Given the description of an element on the screen output the (x, y) to click on. 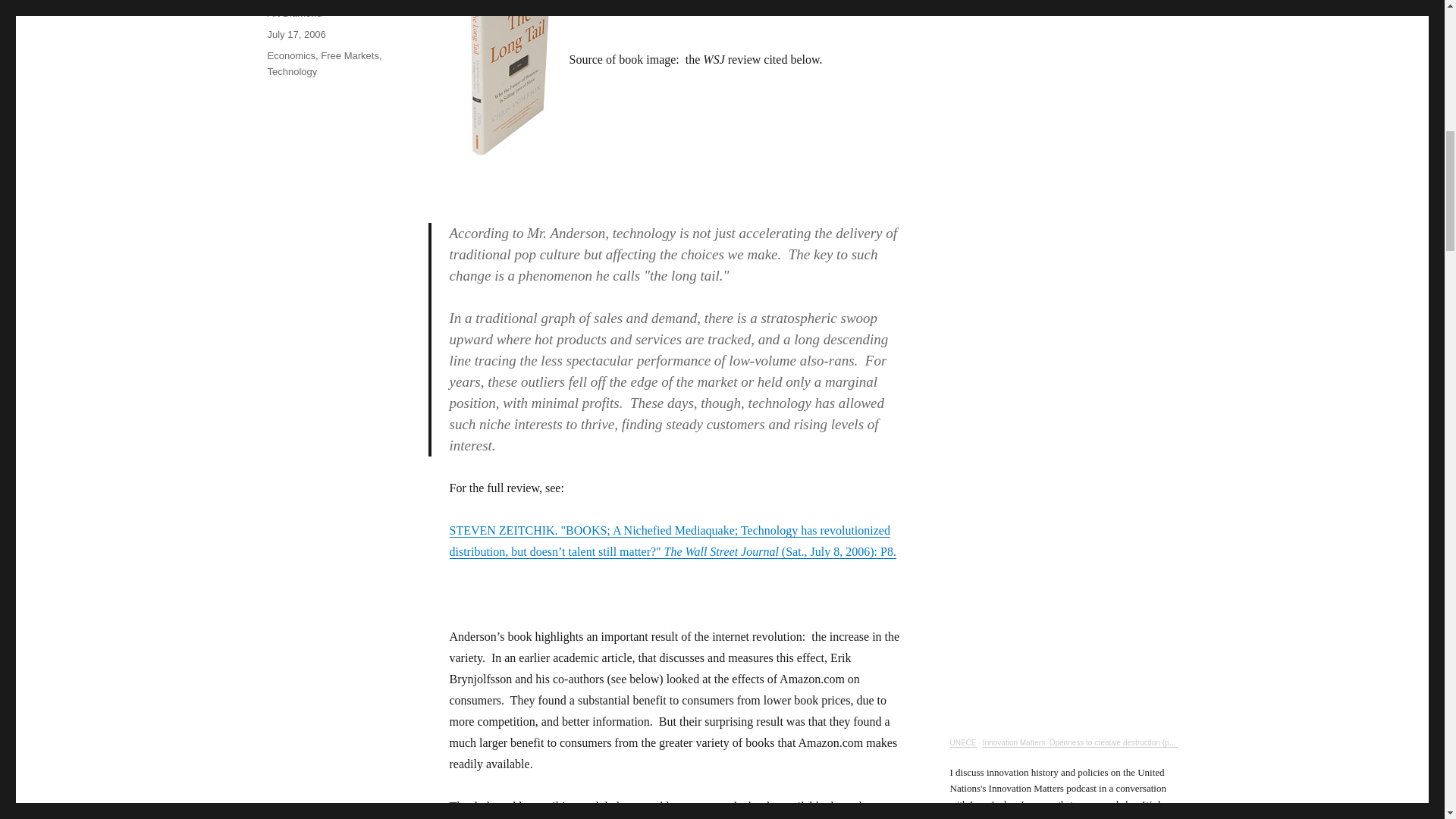
Art Diamond (293, 12)
Technology (291, 71)
Free Markets (349, 55)
UNECE (962, 742)
July 17, 2006 (295, 34)
Economics (290, 55)
UNECE (962, 742)
